Given the description of an element on the screen output the (x, y) to click on. 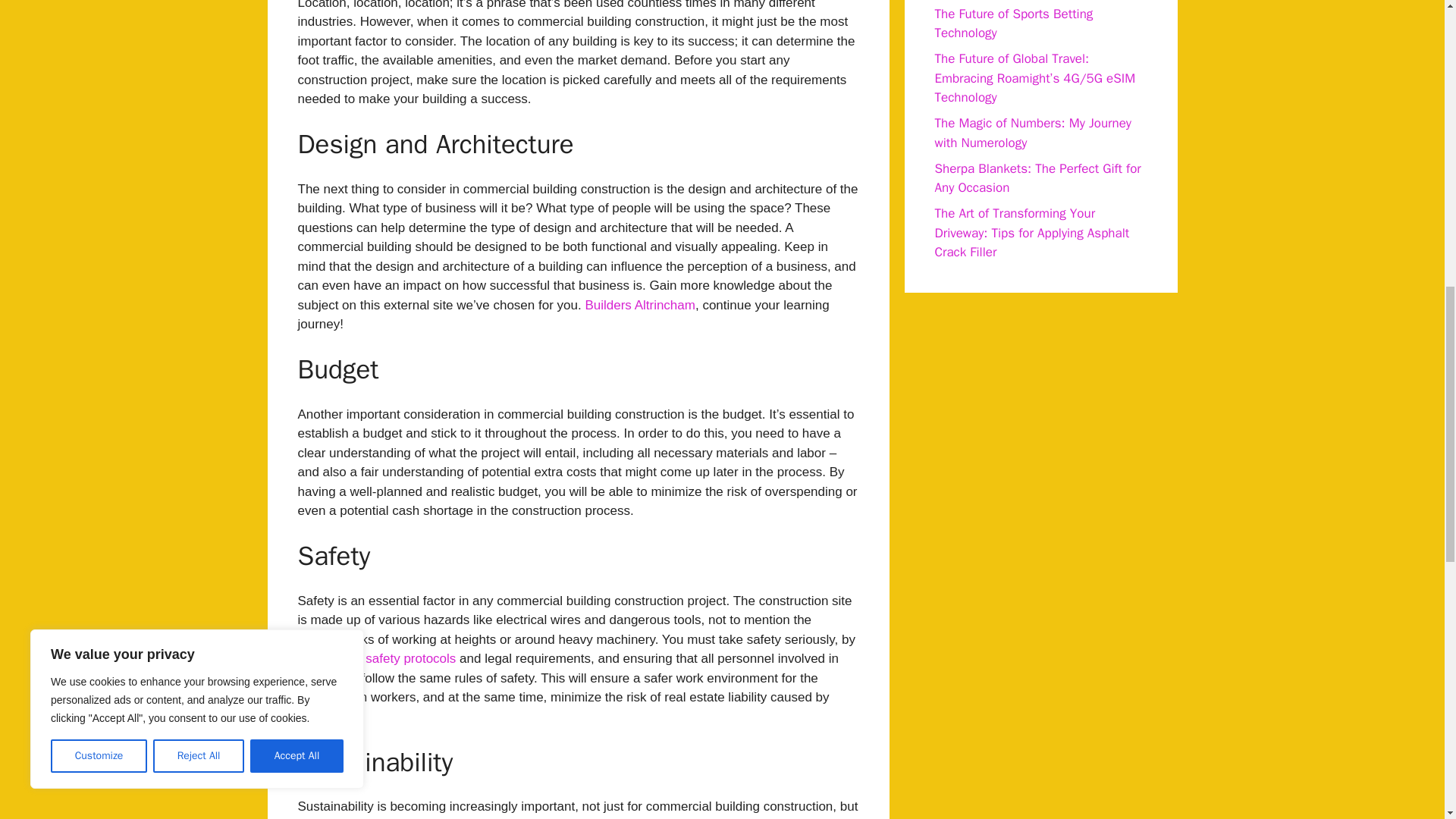
safety protocols (410, 658)
Builders Altrincham (640, 304)
